Given the description of an element on the screen output the (x, y) to click on. 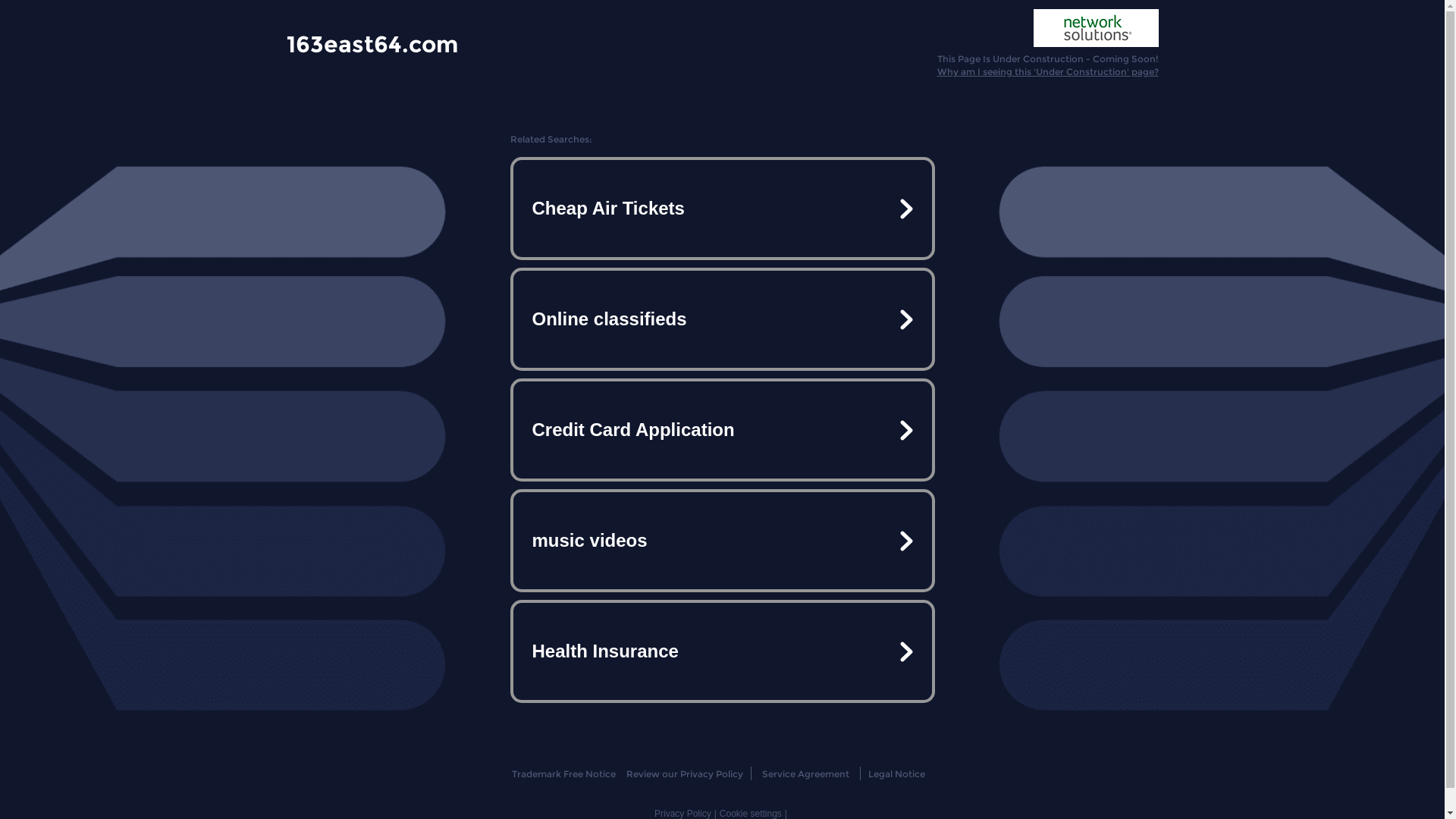
Service Agreement Element type: text (805, 773)
Review our Privacy Policy Element type: text (684, 773)
163east64.com Element type: text (372, 43)
music videos Element type: text (721, 540)
Online classifieds Element type: text (721, 318)
Trademark Free Notice Element type: text (563, 773)
Credit Card Application Element type: text (721, 429)
Health Insurance Element type: text (721, 650)
Legal Notice Element type: text (896, 773)
Why am I seeing this 'Under Construction' page? Element type: text (1047, 71)
Cheap Air Tickets Element type: text (721, 208)
